Given the description of an element on the screen output the (x, y) to click on. 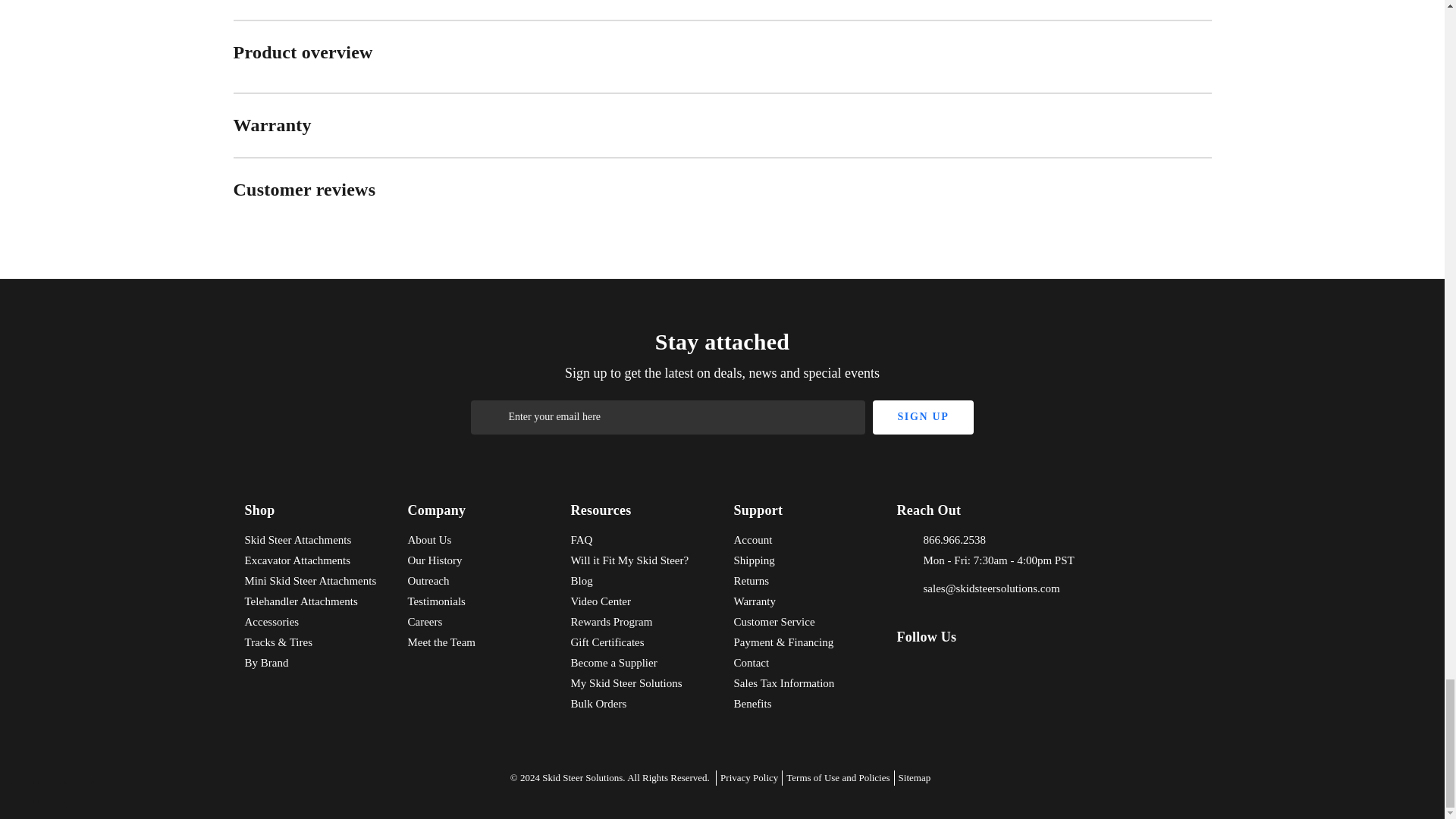
Sign Up (922, 417)
